Given the description of an element on the screen output the (x, y) to click on. 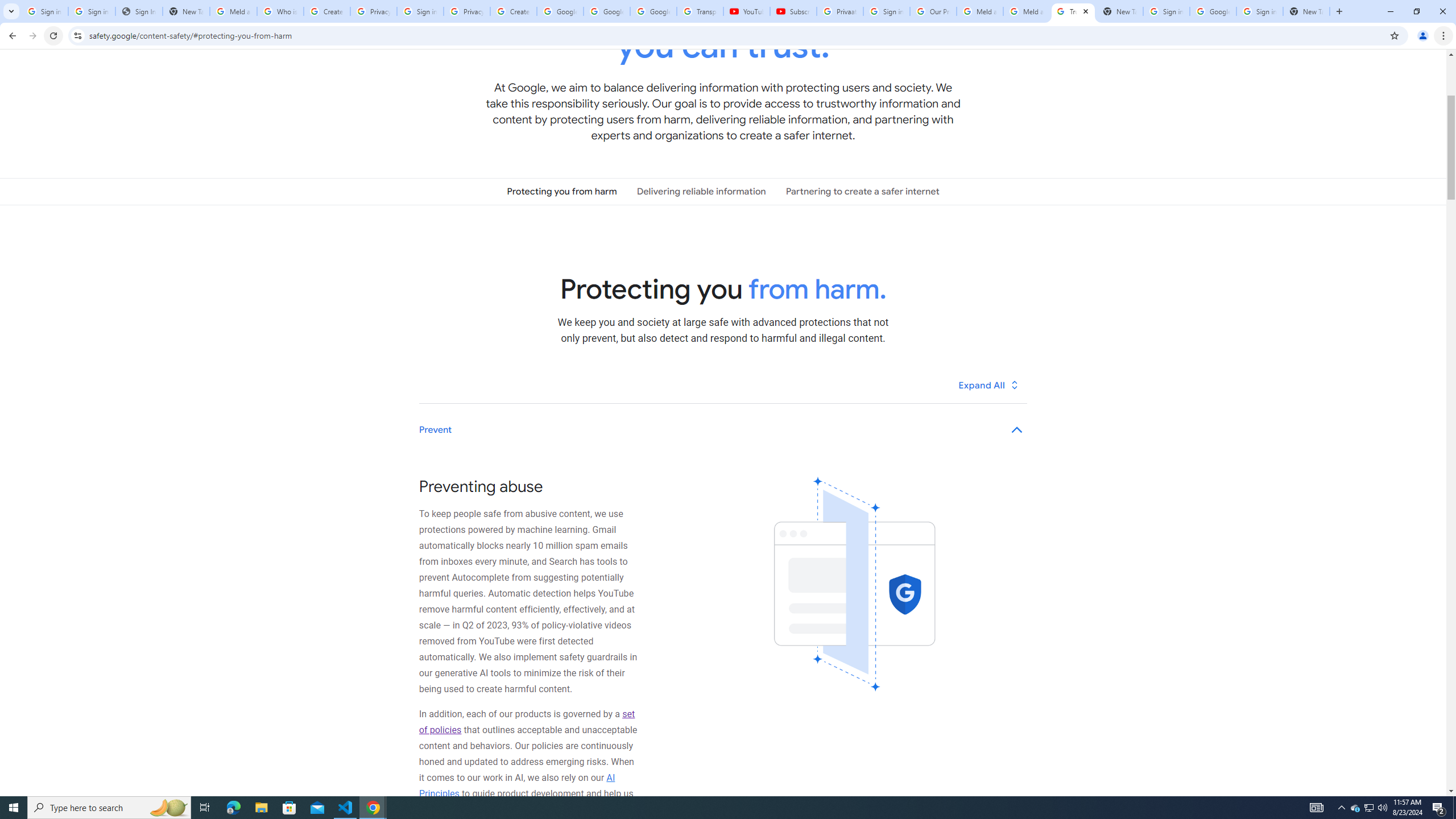
Text Size (1353, 773)
Resize (1371, 77)
